Given the description of an element on the screen output the (x, y) to click on. 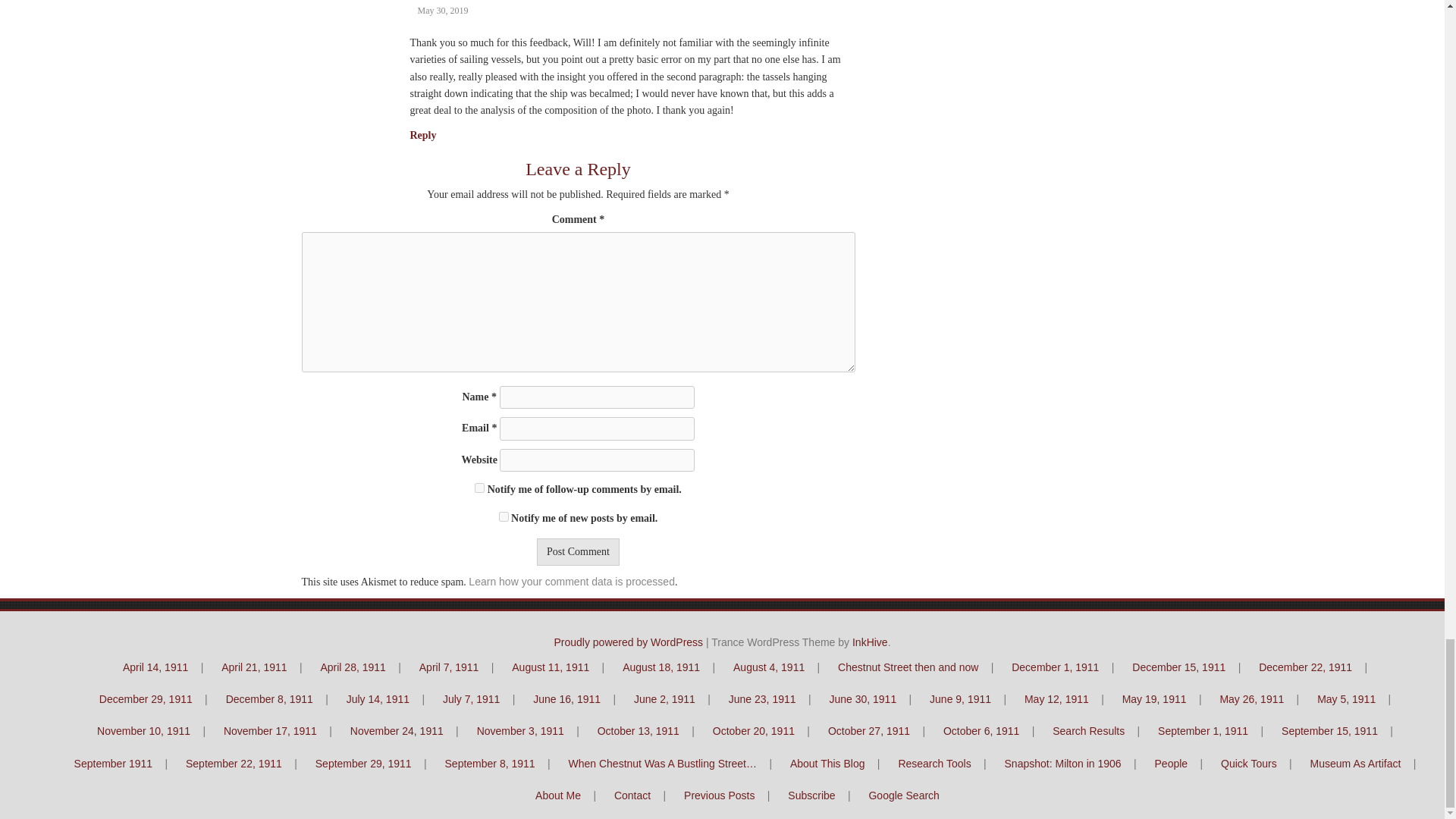
Post Comment (578, 551)
subscribe (479, 488)
subscribe (503, 516)
